Given the description of an element on the screen output the (x, y) to click on. 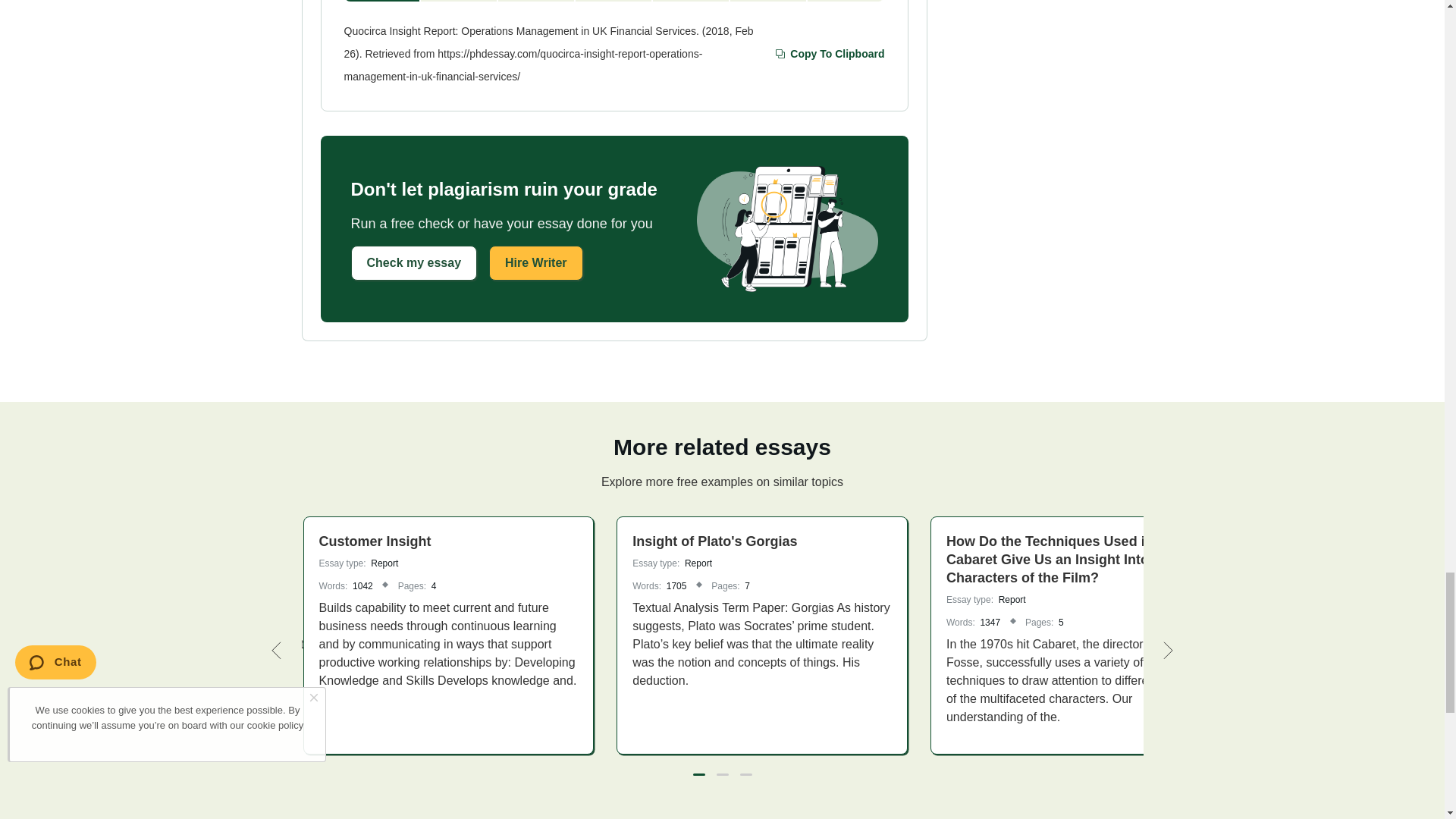
HARVARD (536, 0)
APA (382, 0)
ASA (691, 0)
MLA (458, 0)
CHICAGO (613, 0)
